Given the description of an element on the screen output the (x, y) to click on. 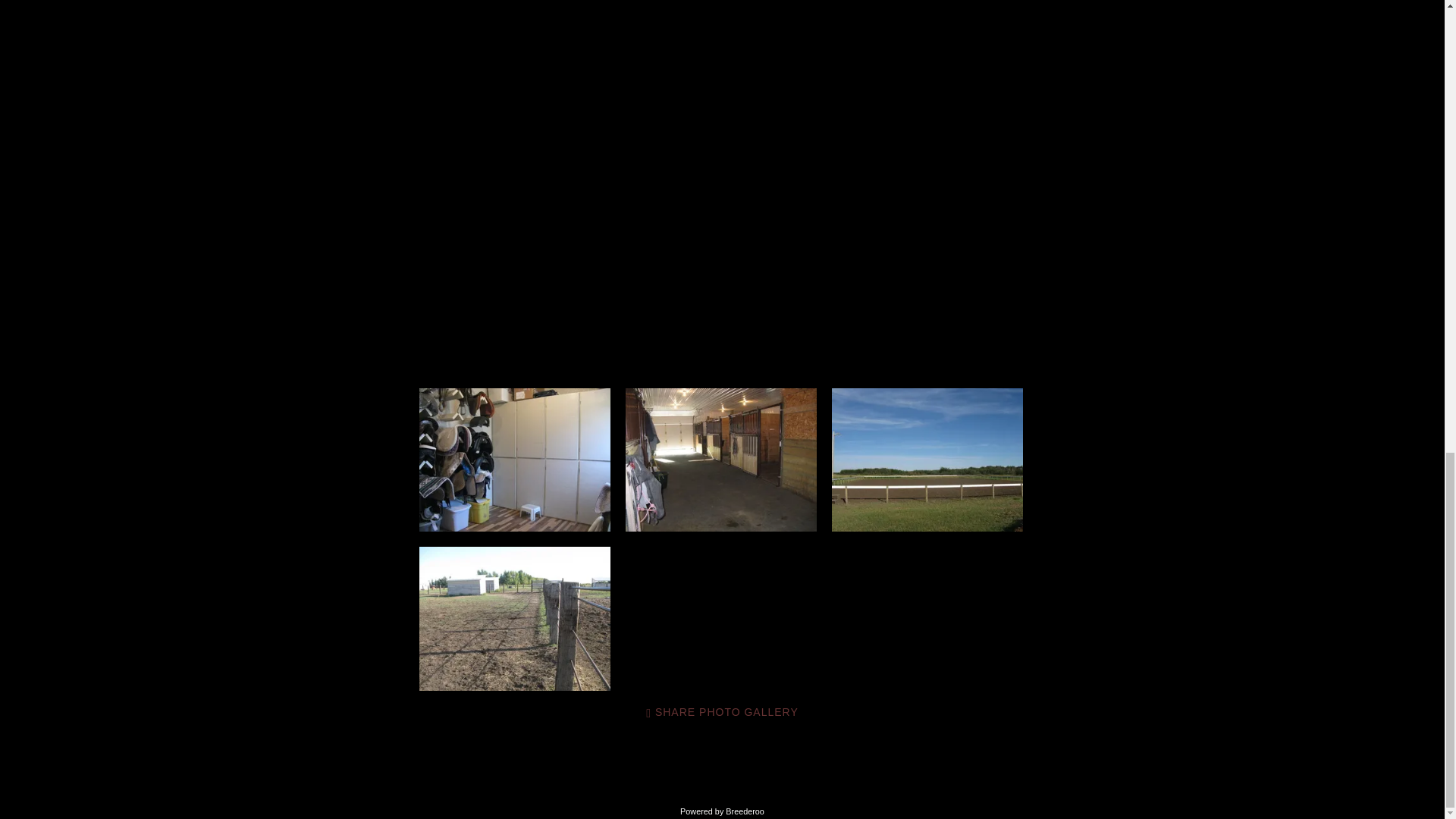
Powered by Breederoo (721, 810)
Powered by Breederoo (721, 810)
Share Islabrook Farms (721, 712)
SHARE PHOTO GALLERY (721, 712)
